Given the description of an element on the screen output the (x, y) to click on. 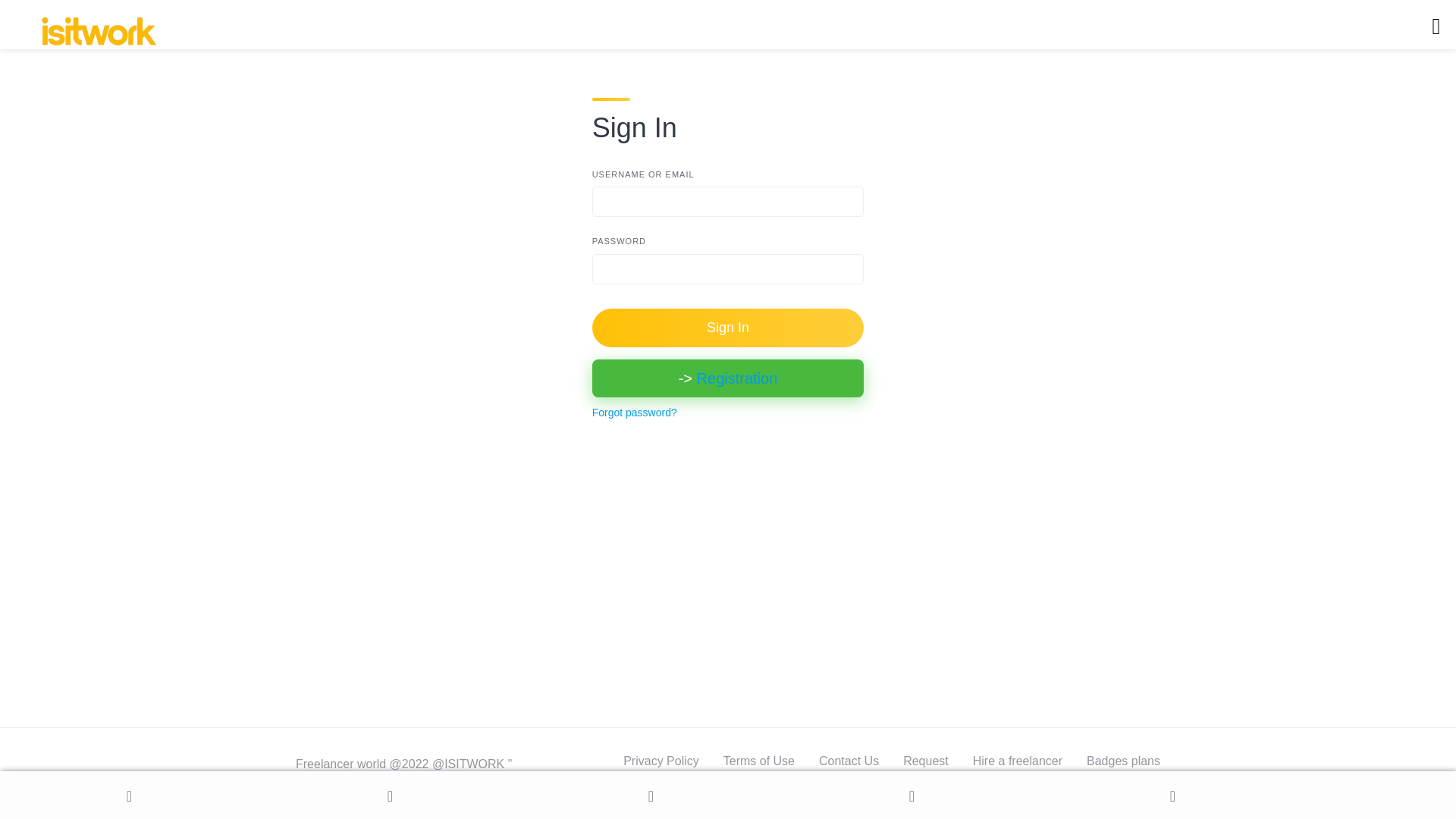
Messages (912, 795)
Privacy Policy (660, 760)
Glossary (1136, 784)
List of Freelancer service (658, 784)
Hire a freelancer (1017, 760)
Badges plans (1123, 760)
Home (130, 795)
Dash (652, 795)
Terms of Use (758, 760)
Registration (737, 378)
